Given the description of an element on the screen output the (x, y) to click on. 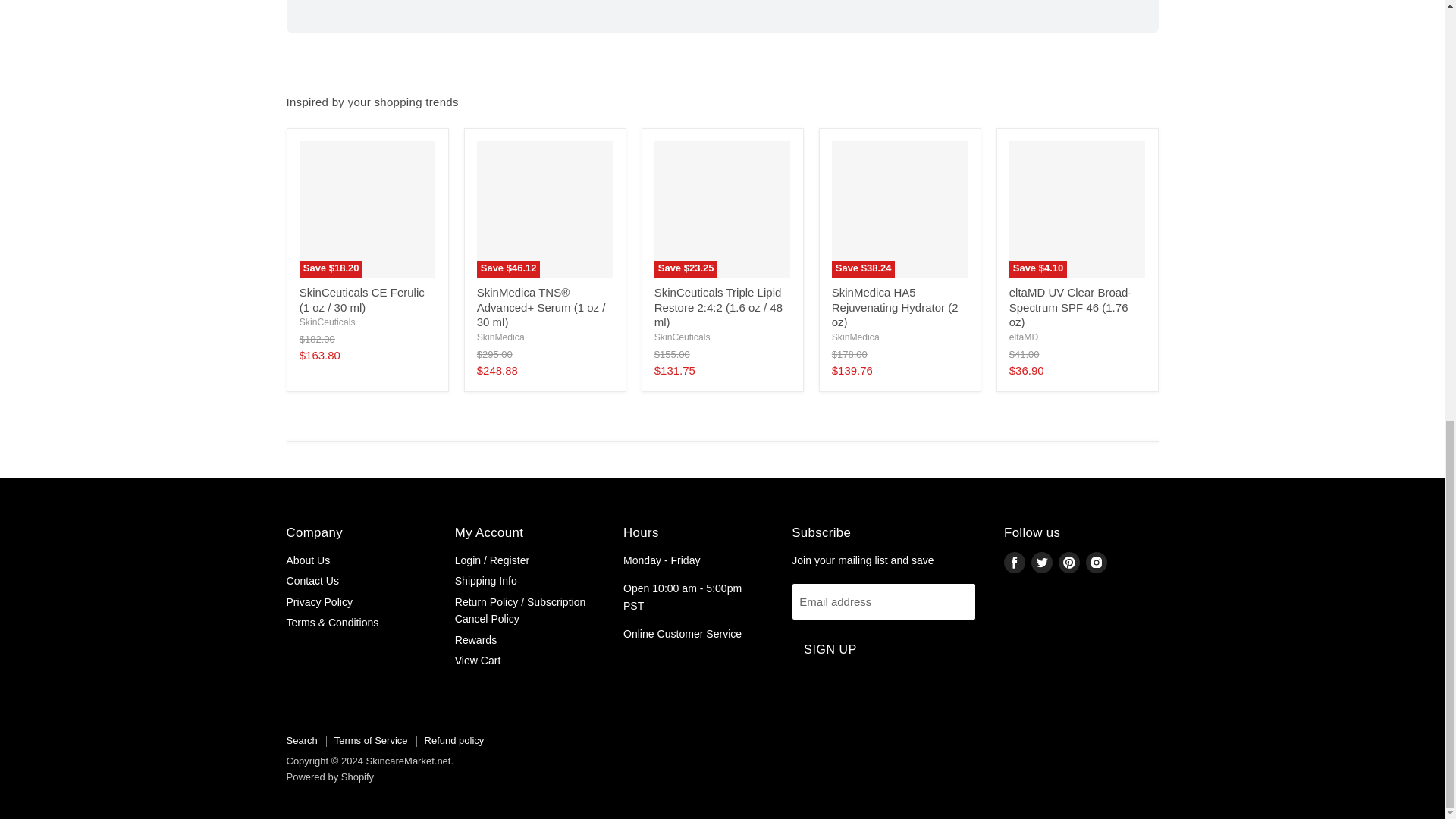
Facebook (1014, 562)
Pinterest (1069, 562)
SkinCeuticals (681, 337)
SkinMedica (855, 337)
Twitter (1041, 562)
eltaMD (1024, 337)
Instagram (1096, 562)
SkinCeuticals (327, 321)
SkinMedica (500, 337)
